Given the description of an element on the screen output the (x, y) to click on. 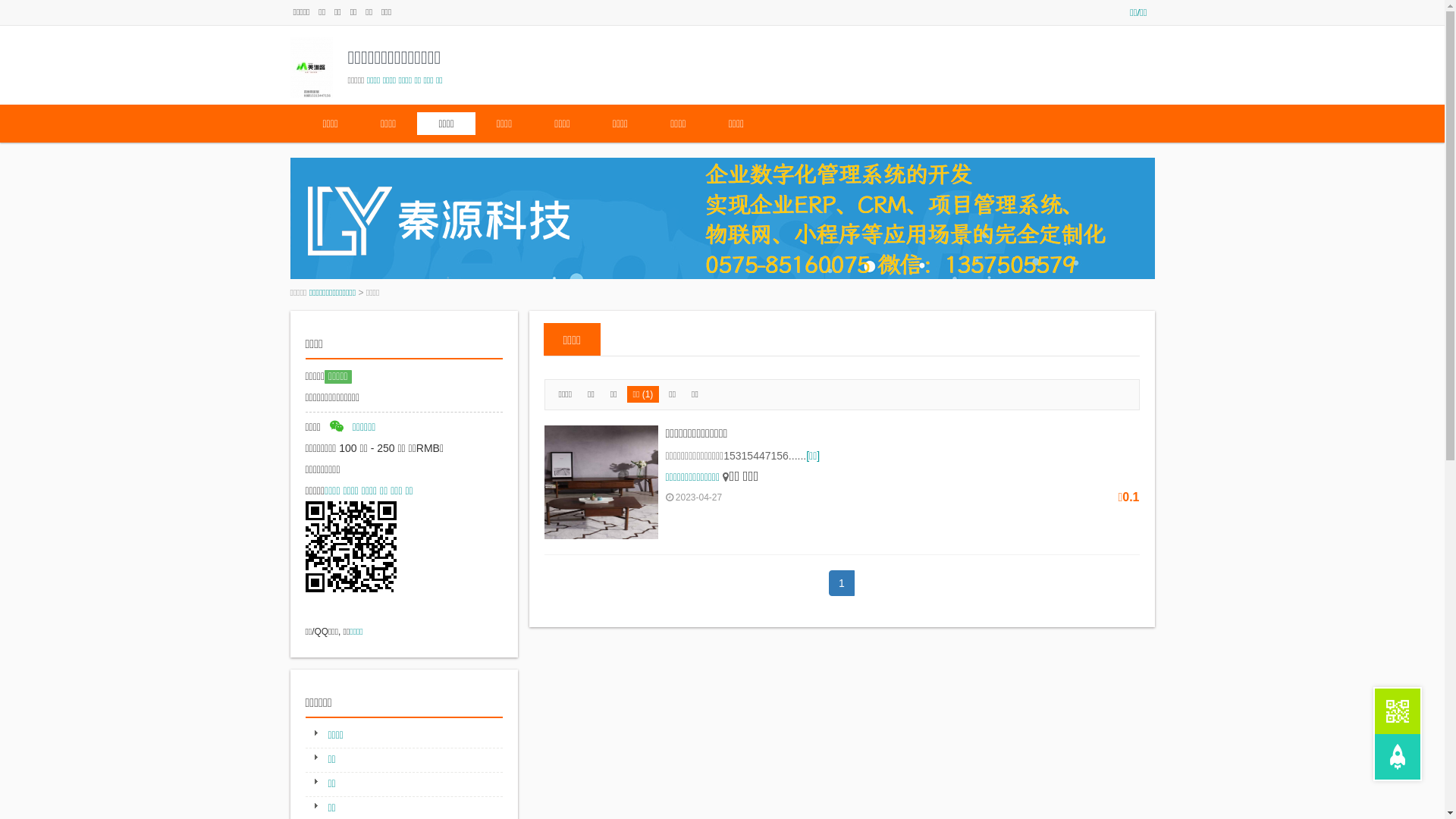
1 Element type: text (841, 583)
